Given the description of an element on the screen output the (x, y) to click on. 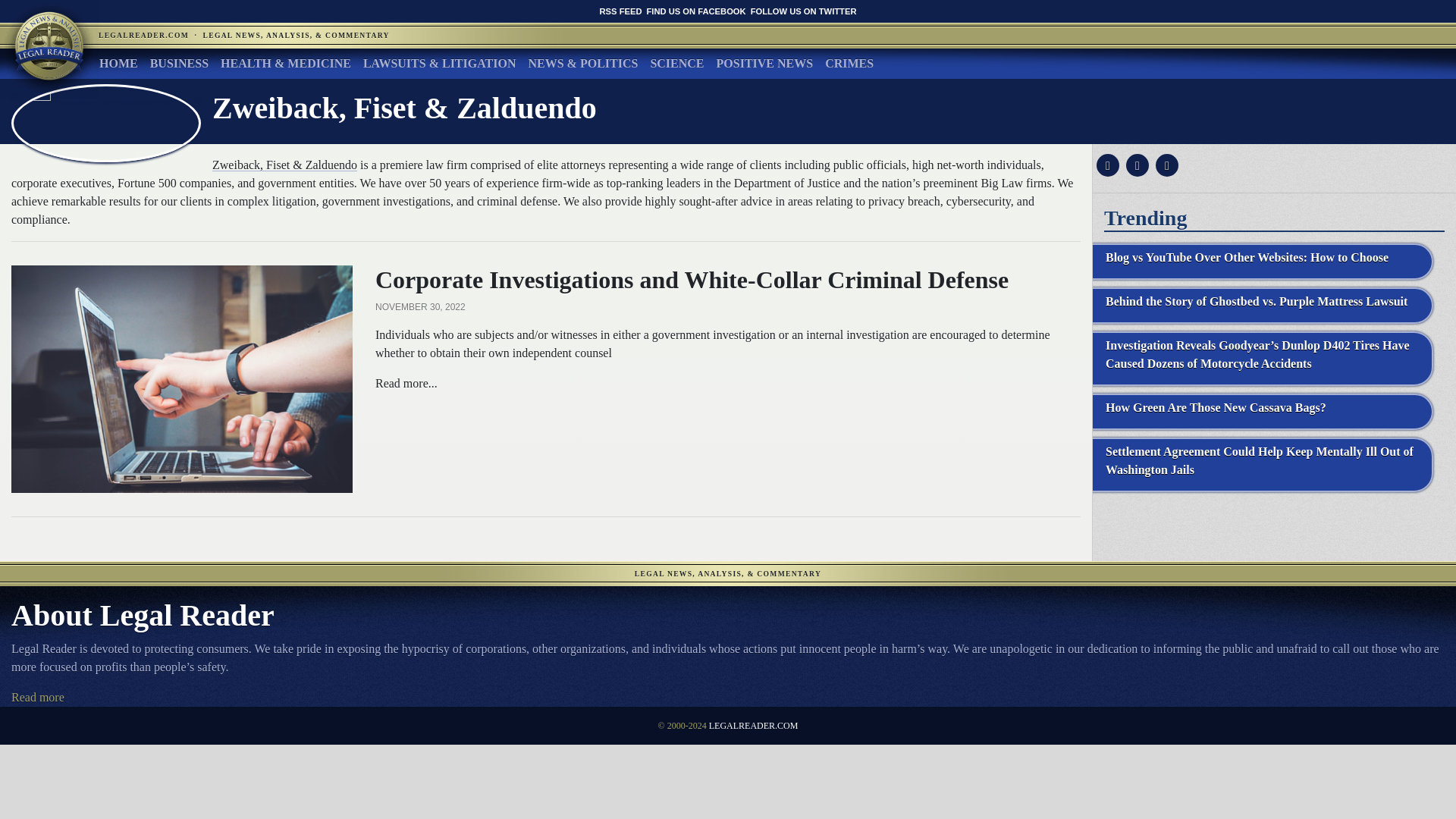
Read more... (406, 382)
HOME (118, 63)
Home (118, 63)
Share on facebook (1106, 164)
Crimes (848, 63)
Corporate Investigations and White-Collar Criminal Defense (181, 377)
POSITIVE NEWS (764, 63)
Share on twitter (1135, 164)
Corporate Investigations and White-Collar Criminal Defense (406, 382)
Business (179, 63)
